Given the description of an element on the screen output the (x, y) to click on. 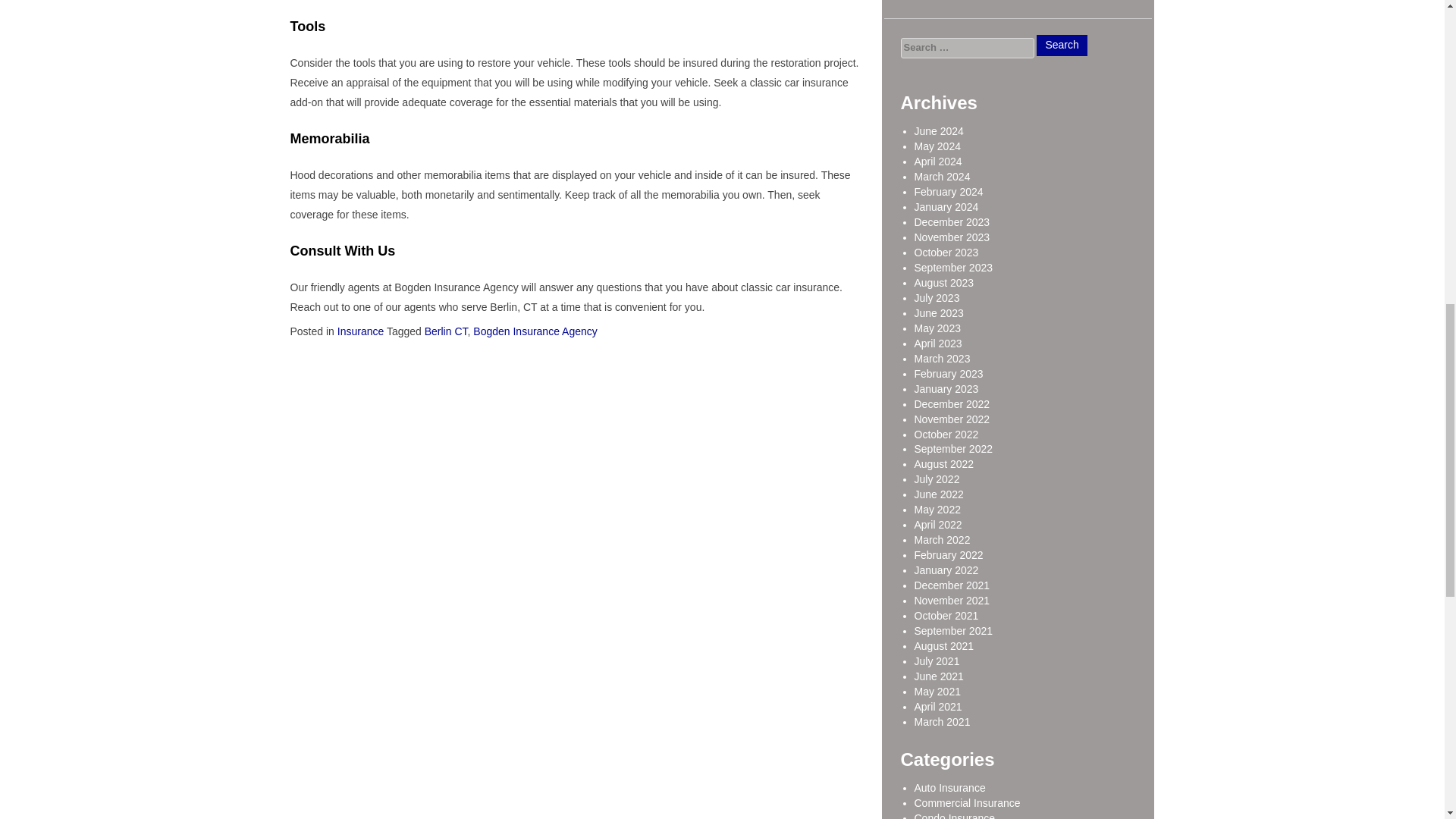
Search (1061, 45)
Search (1061, 45)
